Given the description of an element on the screen output the (x, y) to click on. 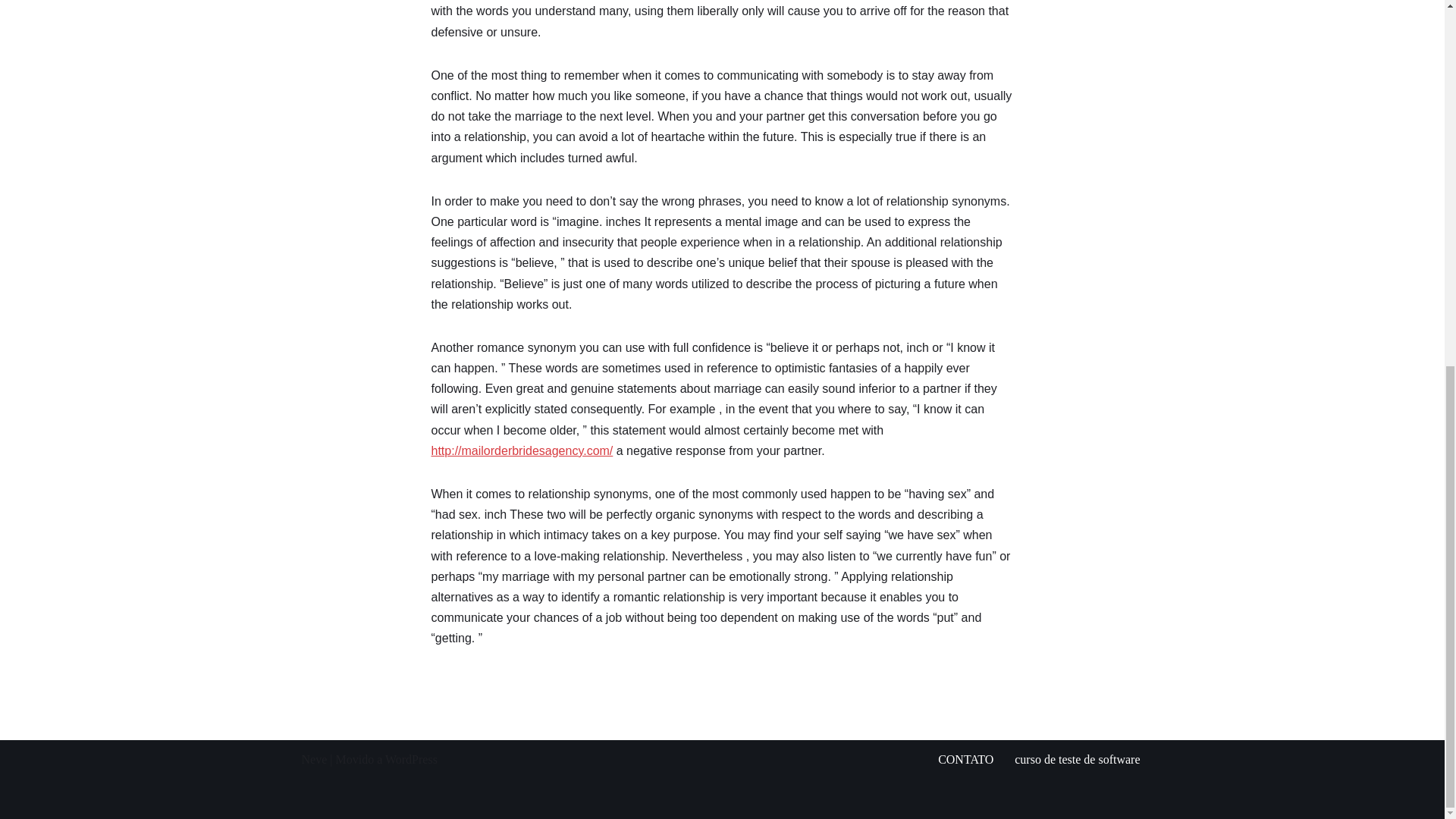
Neve (314, 758)
WordPress (411, 758)
curso de teste de software (1077, 758)
CONTATO (964, 758)
